Given the description of an element on the screen output the (x, y) to click on. 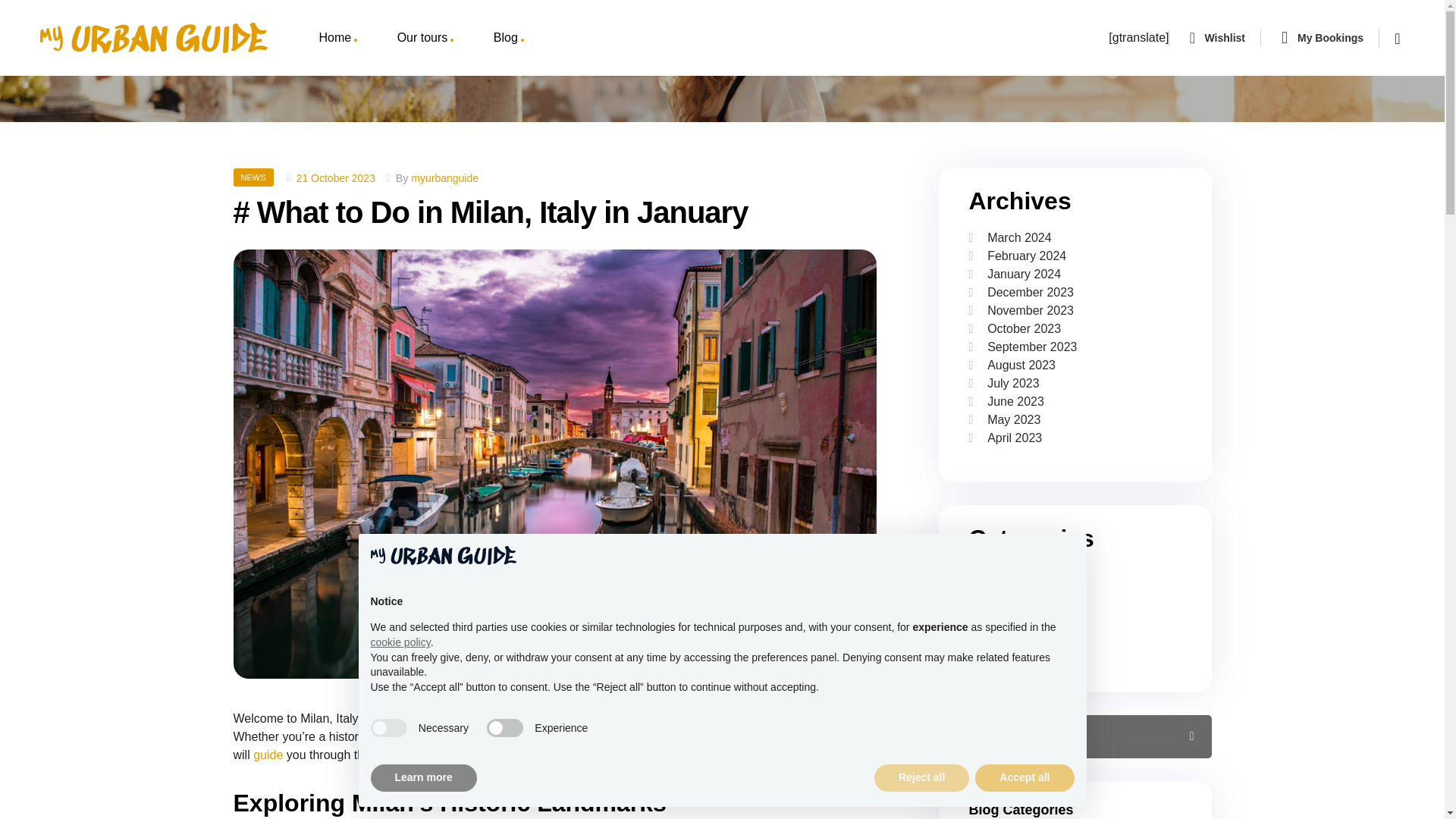
Home (337, 37)
Our tours (424, 37)
My Bookings (1329, 37)
Blog (508, 37)
true (387, 728)
false (504, 728)
Search (1181, 735)
Wishlist (1224, 37)
Search (1181, 735)
